Given the description of an element on the screen output the (x, y) to click on. 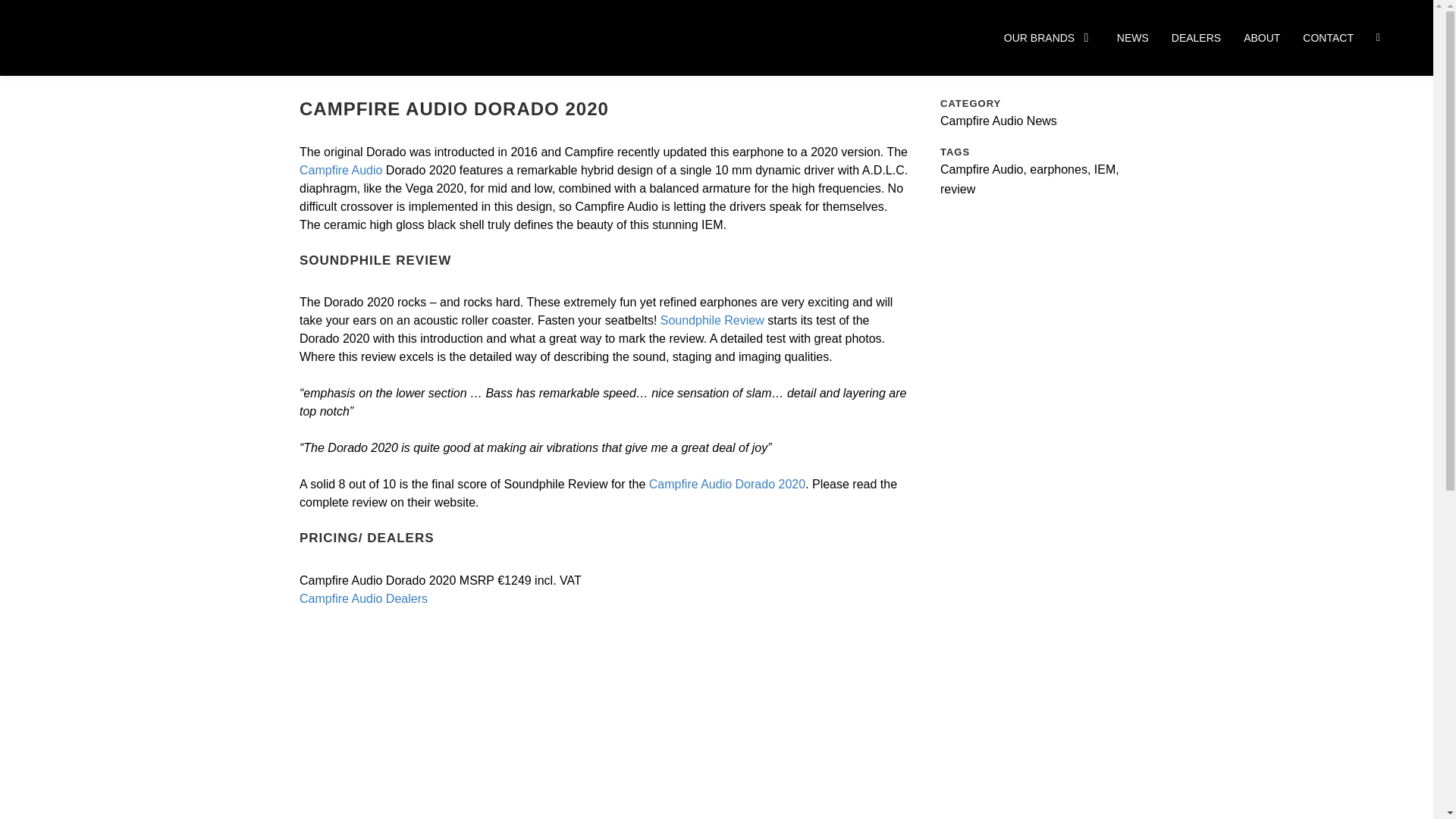
DEALERS (1196, 37)
CONTACT (1328, 37)
NEWS (1132, 37)
ABOUT (1261, 37)
OUR BRANDS (1049, 37)
